Given the description of an element on the screen output the (x, y) to click on. 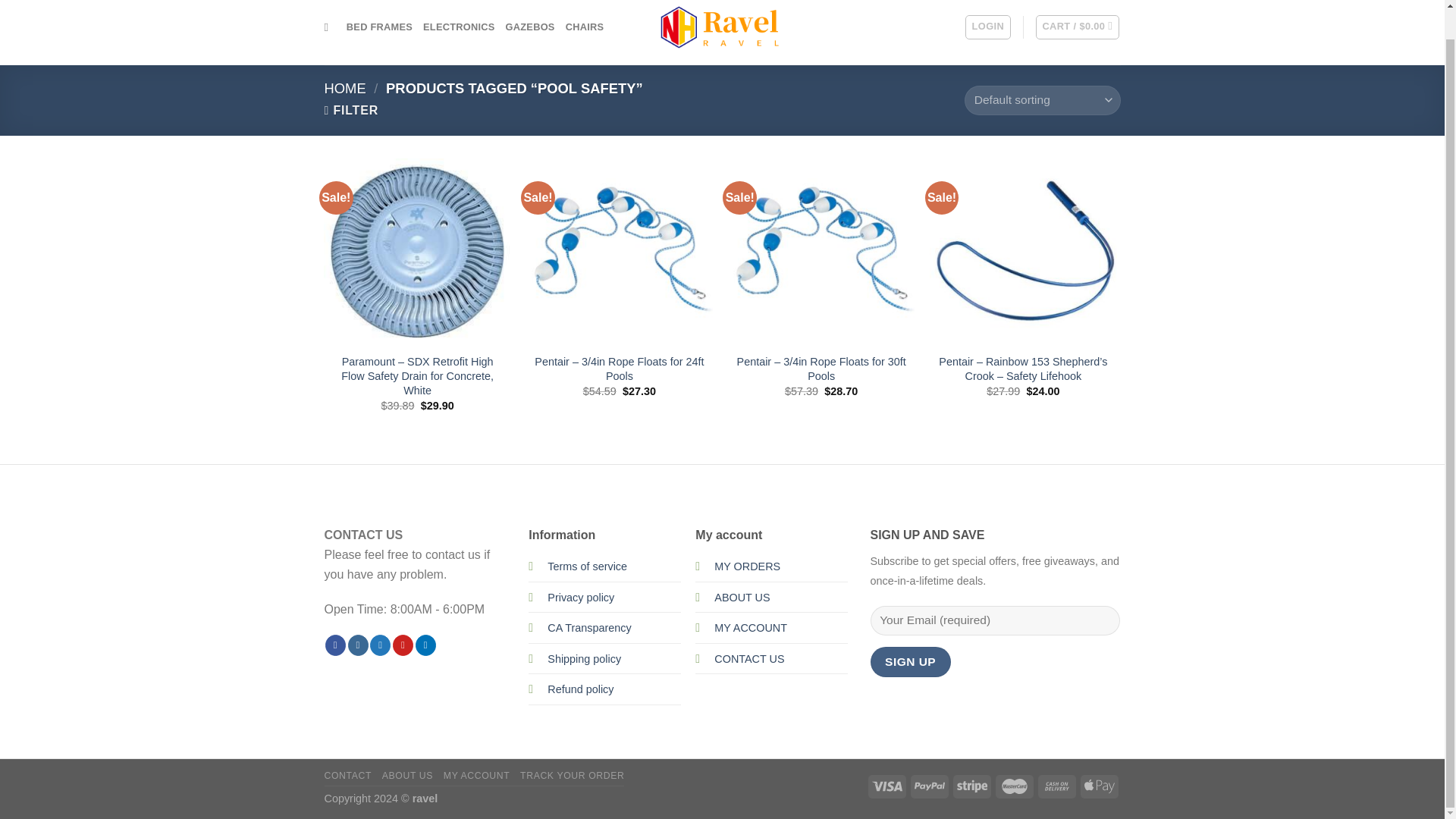
Sign Up (910, 661)
ELECTRONICS (459, 26)
HOME (345, 88)
CHAIRS (585, 26)
LOGIN (987, 27)
Follow on Instagram (357, 645)
Follow on Facebook (335, 645)
FILTER (351, 110)
Follow on Twitter (379, 645)
COOLTRAVELGEAR (722, 27)
